Given the description of an element on the screen output the (x, y) to click on. 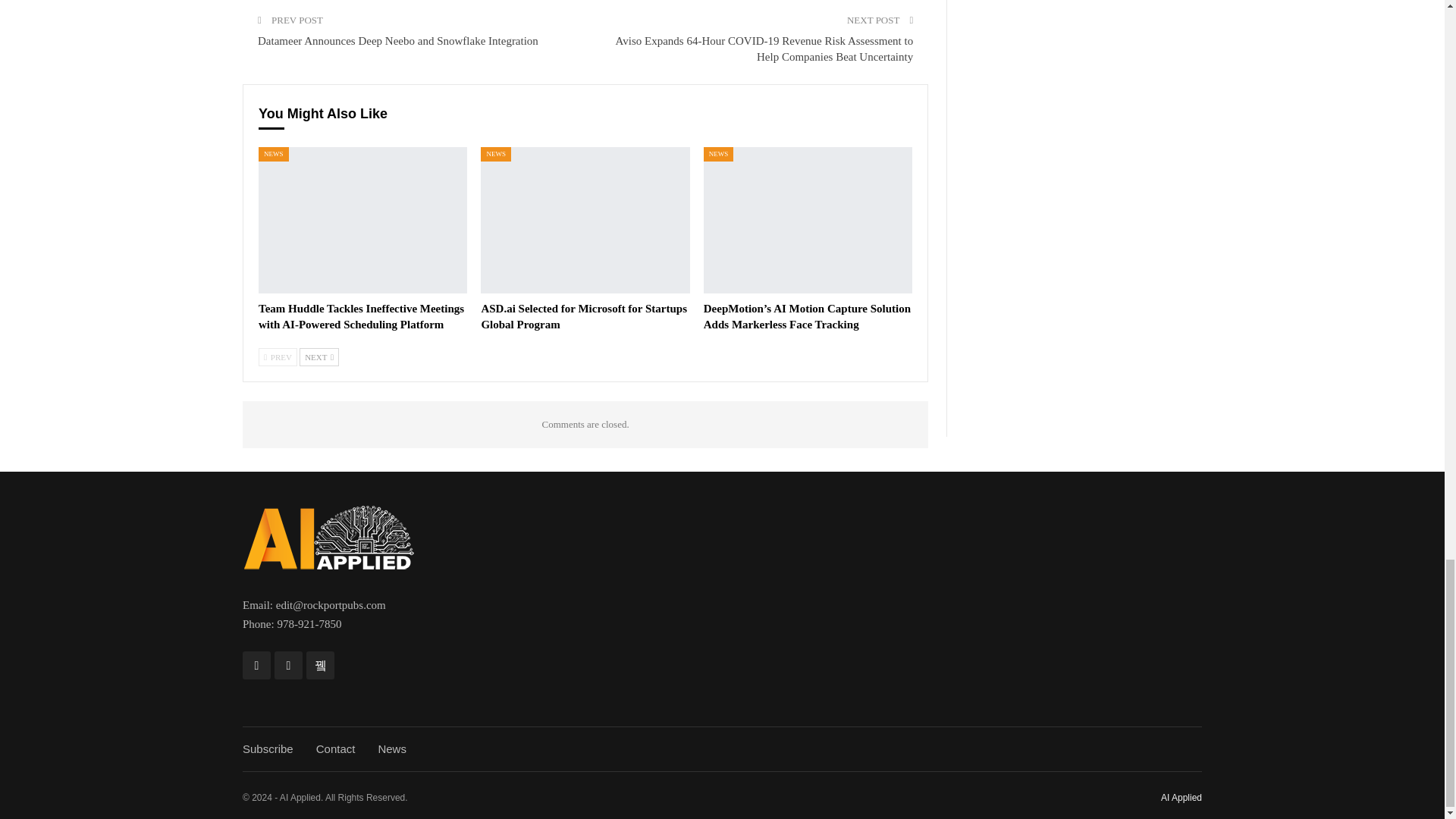
ASD.ai Selected for Microsoft for Startups Global Program (583, 316)
ASD.ai Selected for Microsoft for Startups Global Program (584, 220)
